Given the description of an element on the screen output the (x, y) to click on. 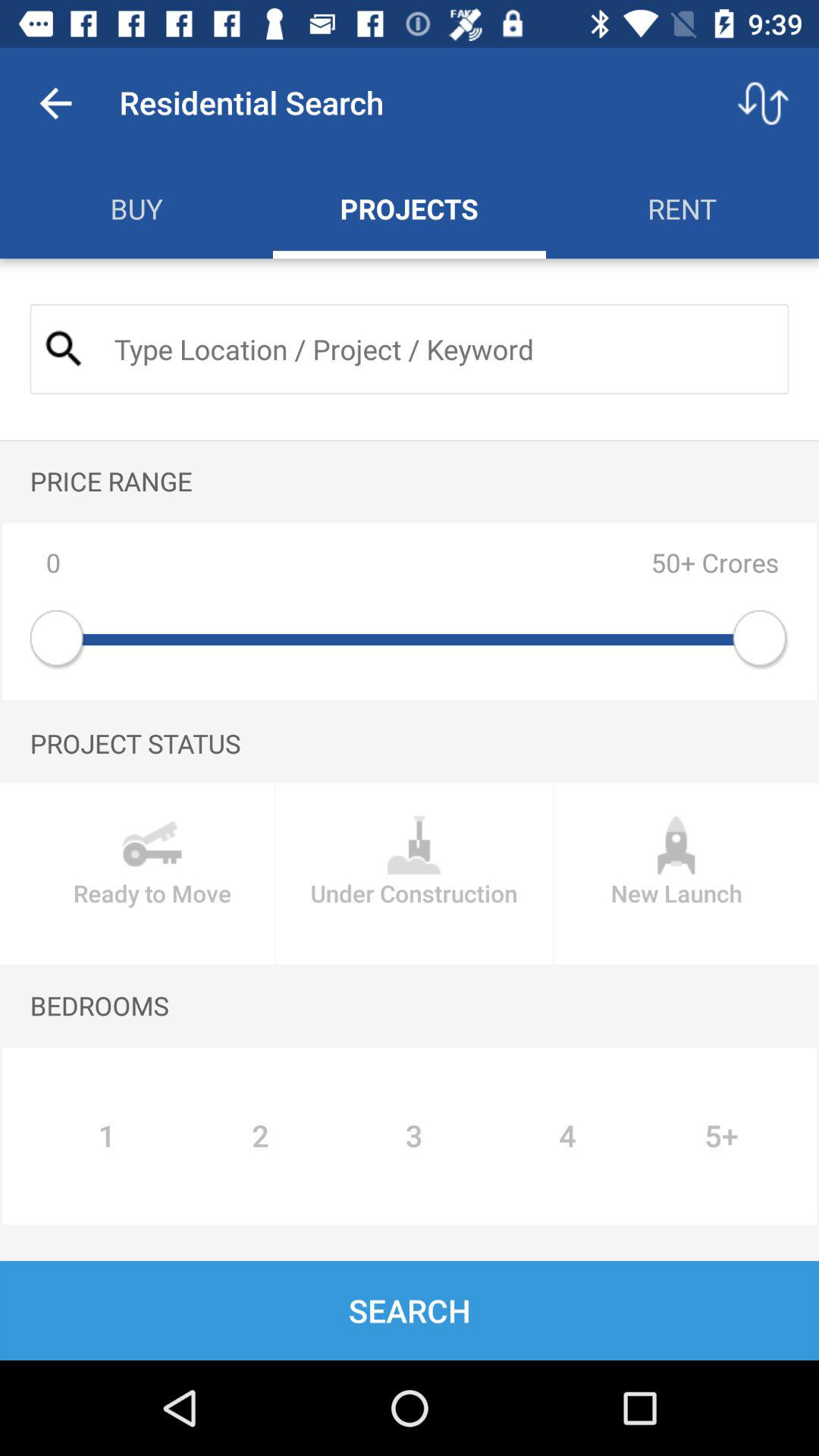
press the icon below the bedrooms icon (106, 1135)
